Given the description of an element on the screen output the (x, y) to click on. 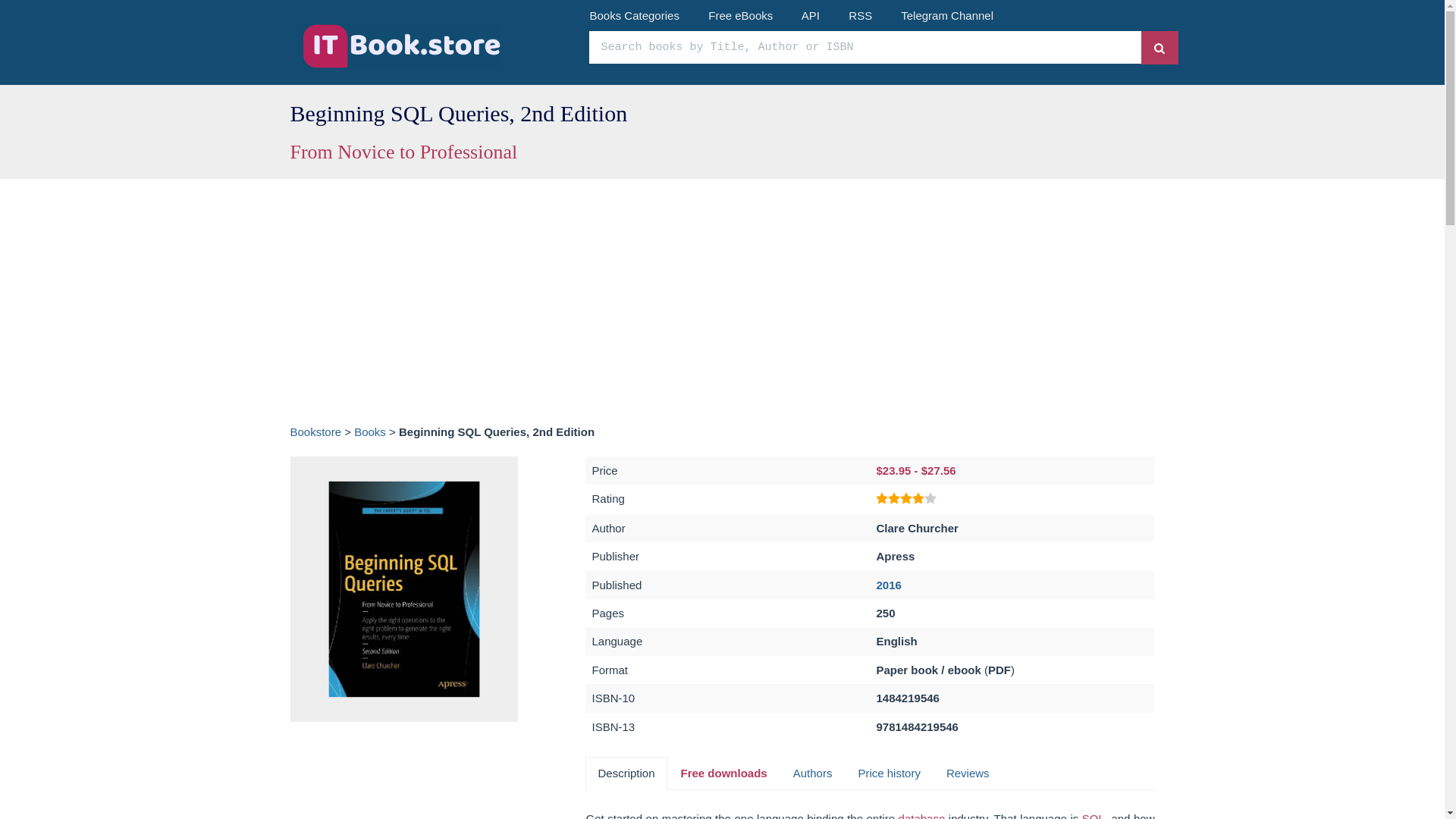
Description (625, 772)
Book ratings (906, 498)
API (810, 15)
API (810, 15)
Telegram Channel (946, 15)
Books (369, 431)
Free eBooks (740, 15)
RSS (860, 15)
Books (369, 431)
Database Books (921, 815)
Reviews (967, 772)
Books Categories (633, 15)
Books Categories (633, 15)
Bookstore (314, 431)
Free downloads (723, 772)
